Given the description of an element on the screen output the (x, y) to click on. 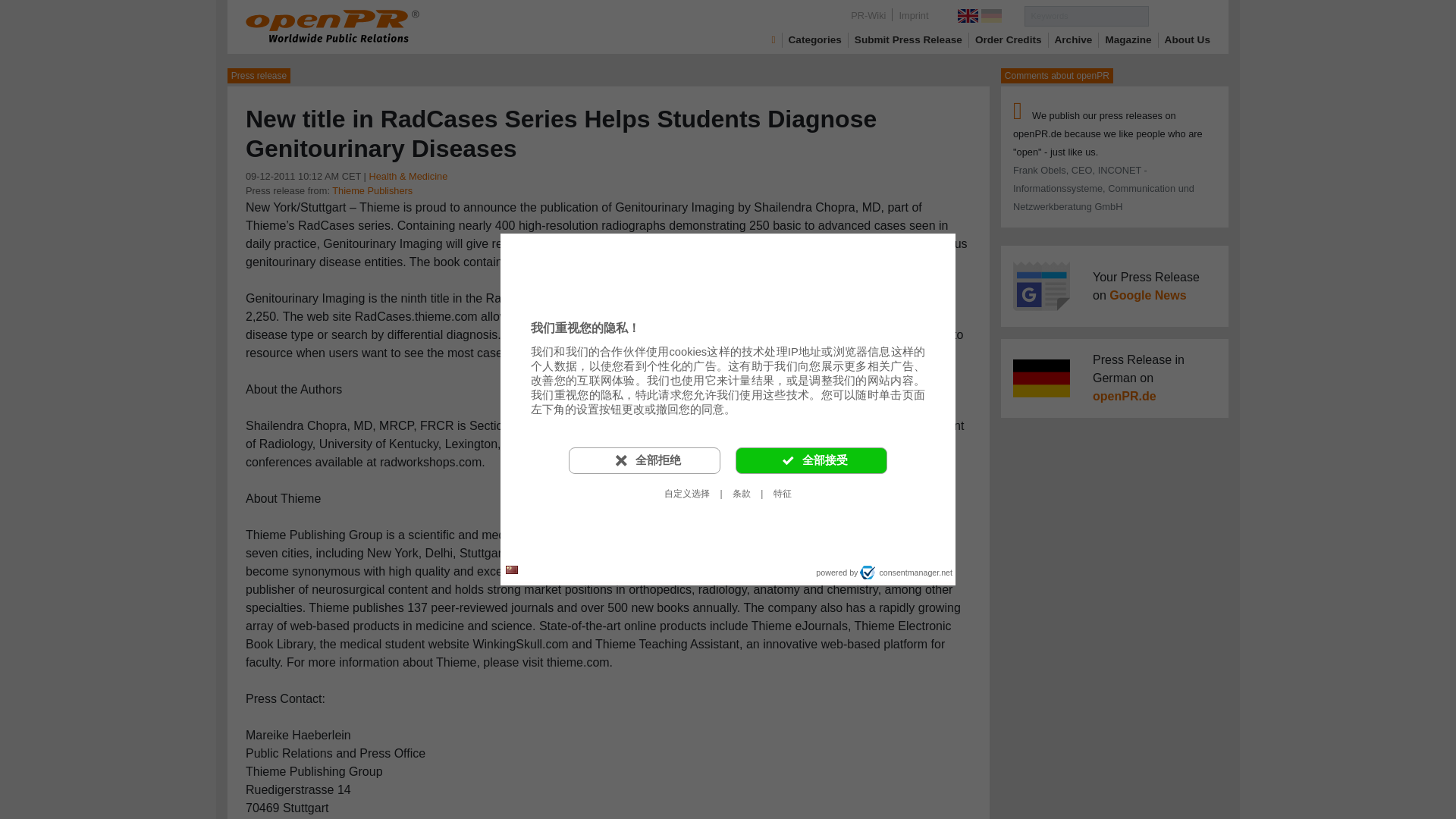
Magazine (1128, 39)
Order Credits (1008, 39)
consentmanager.net (906, 572)
Submit Press Release (908, 39)
Categories (815, 39)
Archive (1073, 39)
Imprint (913, 15)
archive und pressrelease of Thieme Publishers (371, 190)
PR-Wiki (867, 15)
Search   (1178, 15)
